Given the description of an element on the screen output the (x, y) to click on. 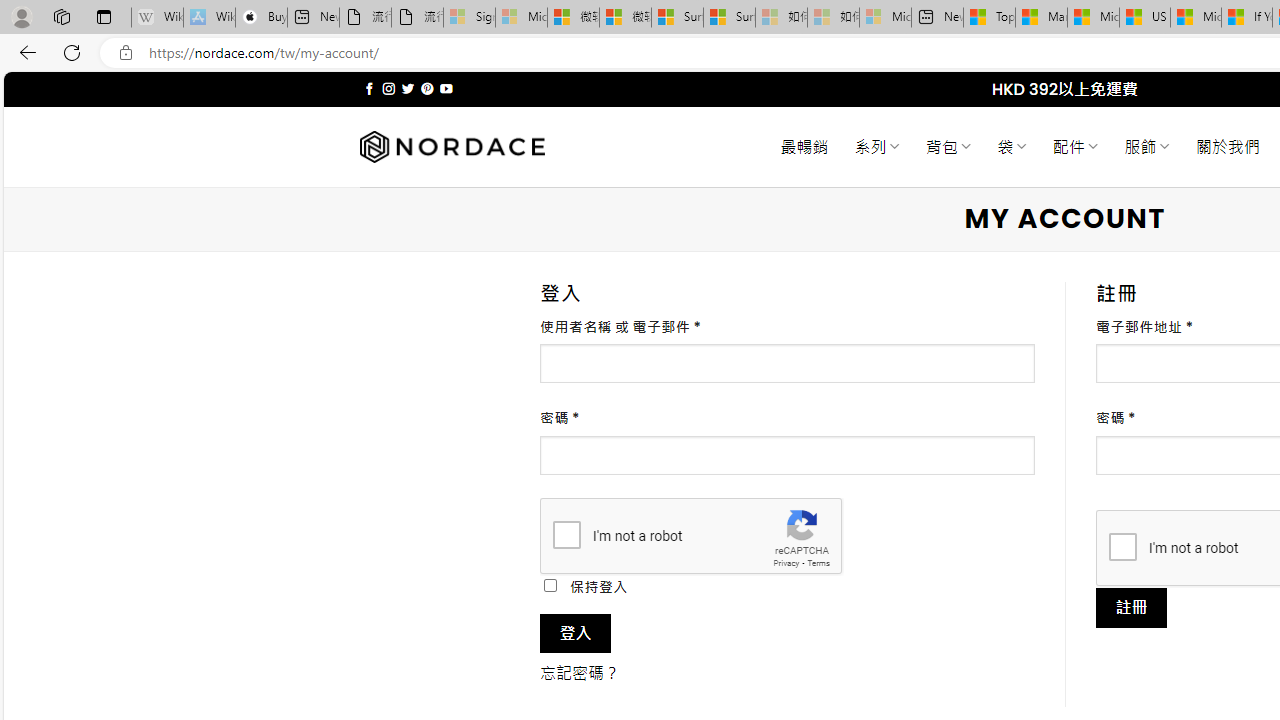
Marine life - MSN (1041, 17)
Follow on Facebook (369, 88)
Microsoft Services Agreement - Sleeping (520, 17)
